Given the description of an element on the screen output the (x, y) to click on. 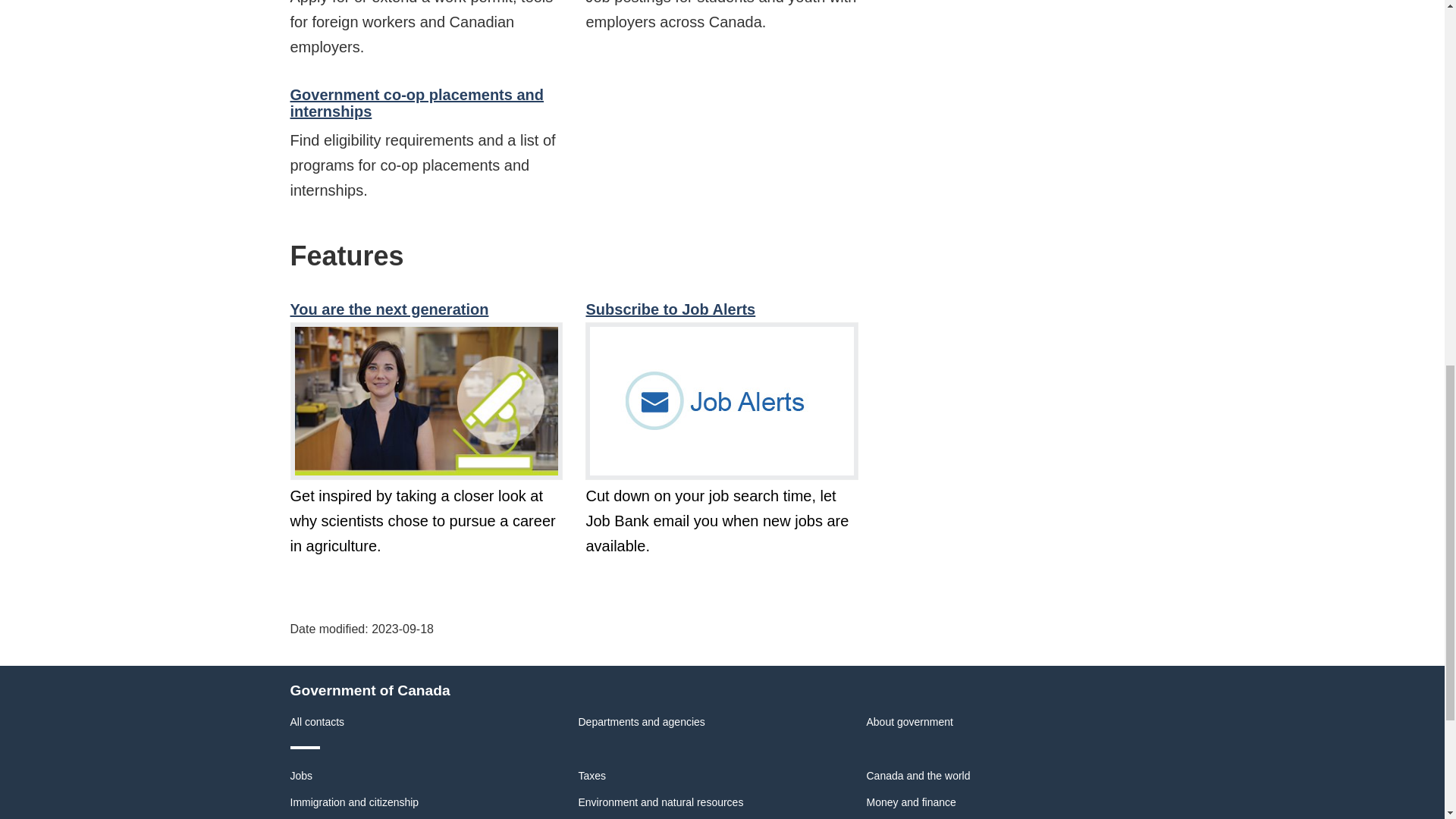
Government co-op placements and internships (416, 102)
